Given the description of an element on the screen output the (x, y) to click on. 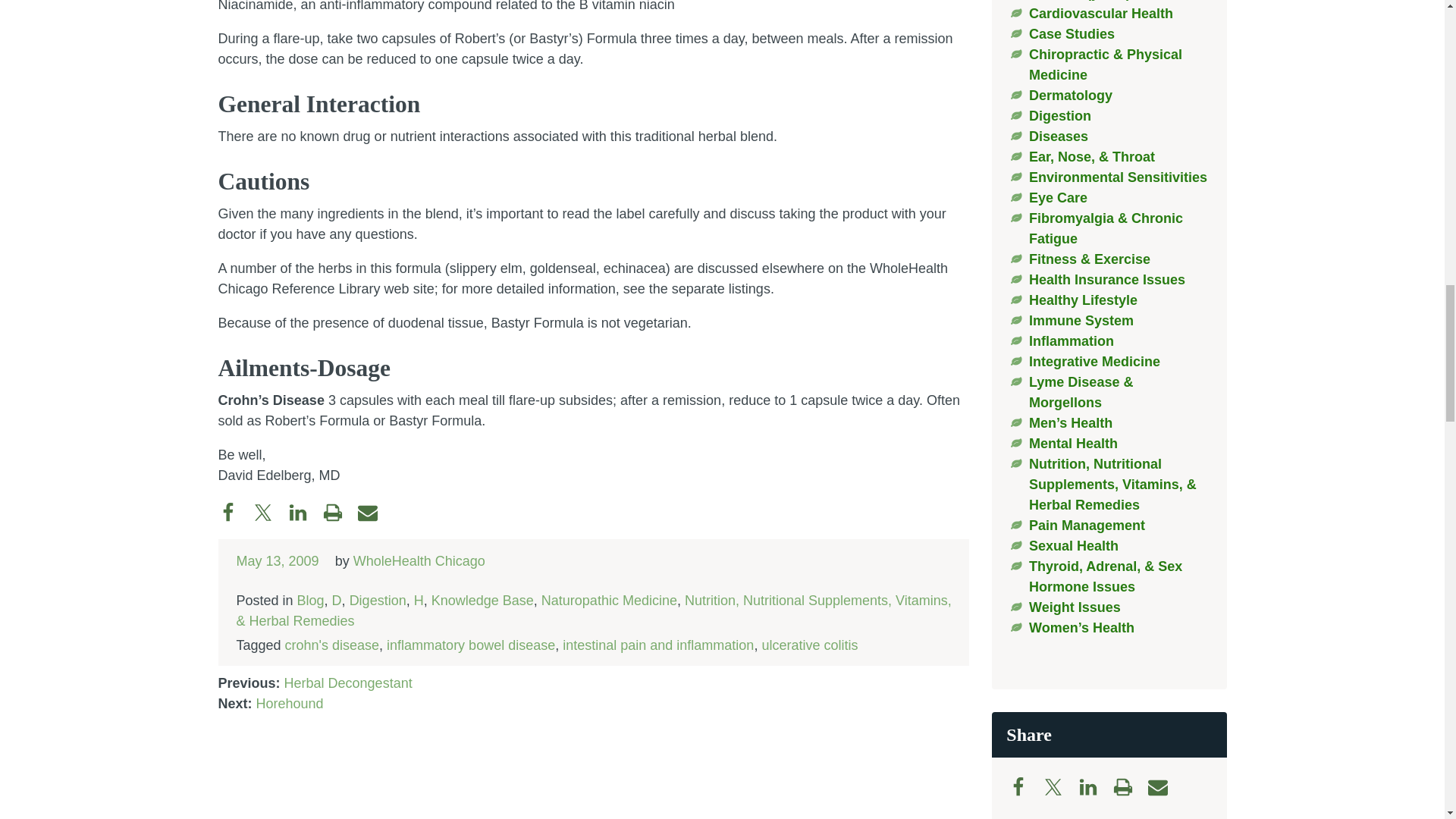
Share via Email (375, 511)
Share on Facebook (235, 511)
Share on Twitter (1060, 785)
Share on LinkedIn (1095, 785)
Print this Page (1130, 785)
Share via Email (1165, 785)
Share on Twitter (270, 511)
Share on LinkedIn (305, 511)
Print this Page (340, 511)
Share on Facebook (1026, 785)
